Given the description of an element on the screen output the (x, y) to click on. 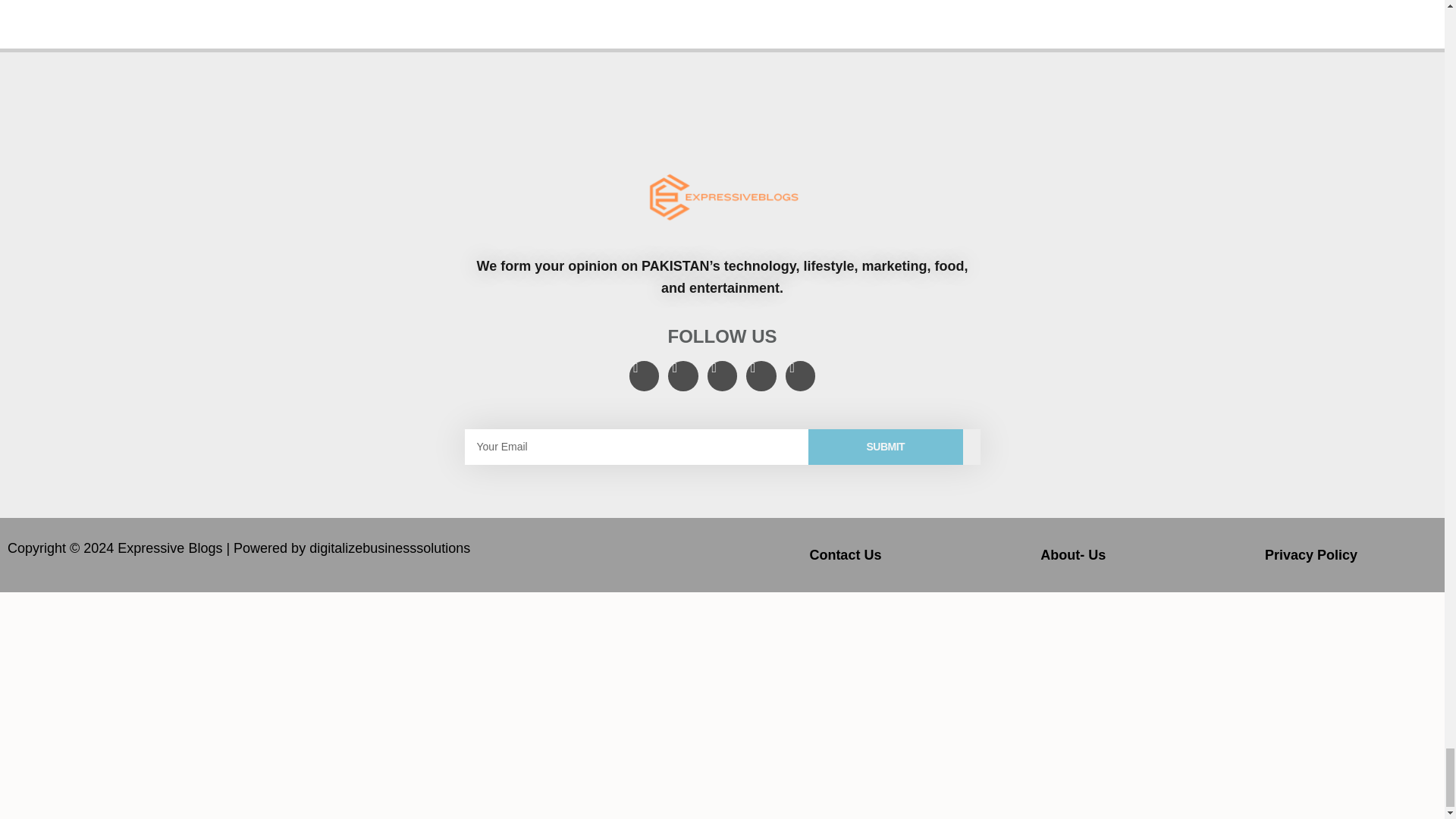
Privacy Policy (1311, 554)
About- Us (1072, 554)
Contact Us (844, 554)
SUBMIT (885, 447)
